Given the description of an element on the screen output the (x, y) to click on. 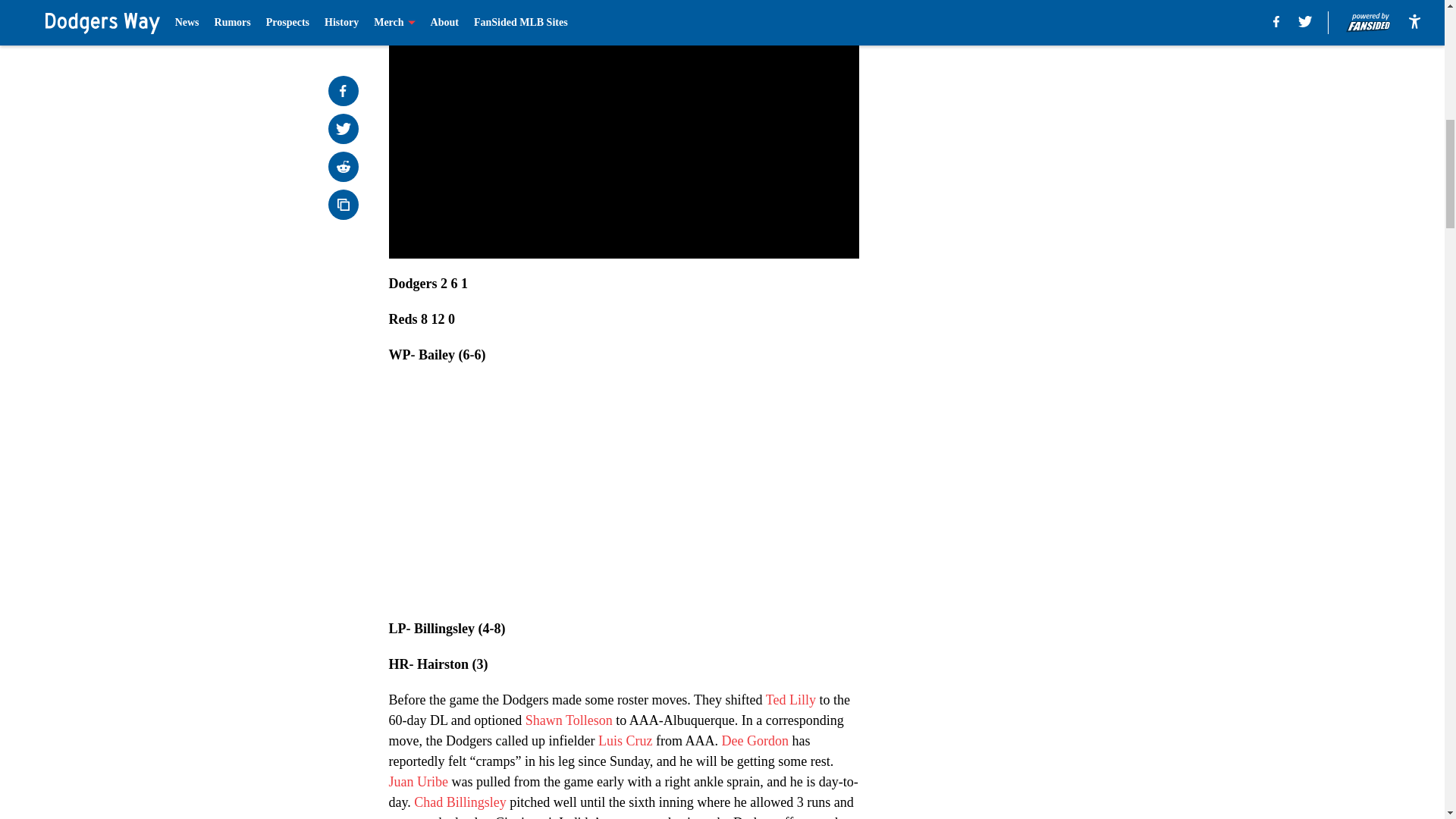
Dee Gordon (753, 740)
Shawn Tolleson (568, 720)
Chad Billingsley (459, 801)
Ted Lilly (790, 699)
Juan Uribe (417, 781)
Luis Cruz (625, 740)
